Given the description of an element on the screen output the (x, y) to click on. 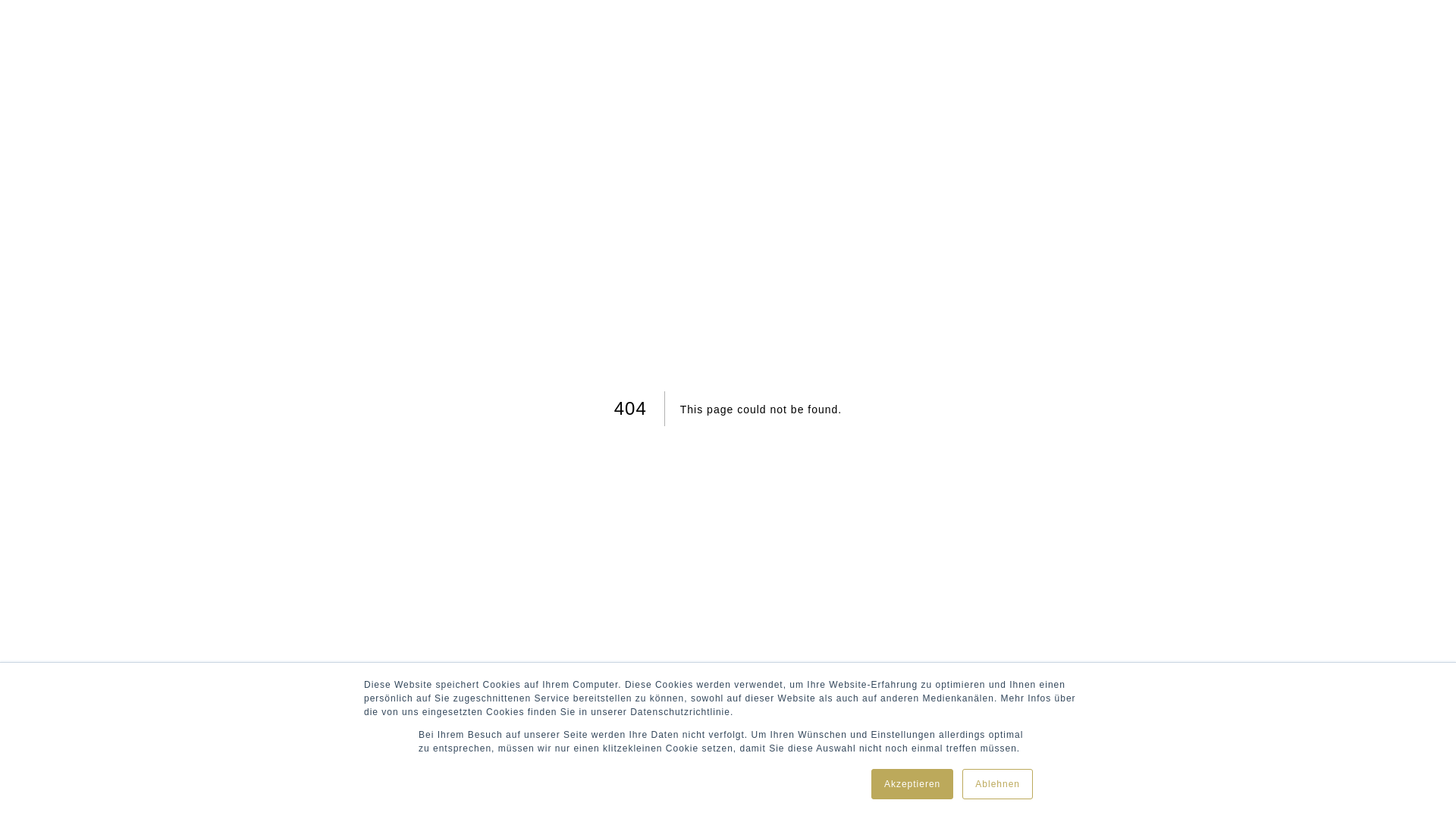
Akzeptieren Element type: text (912, 783)
Ablehnen Element type: text (997, 783)
